Given the description of an element on the screen output the (x, y) to click on. 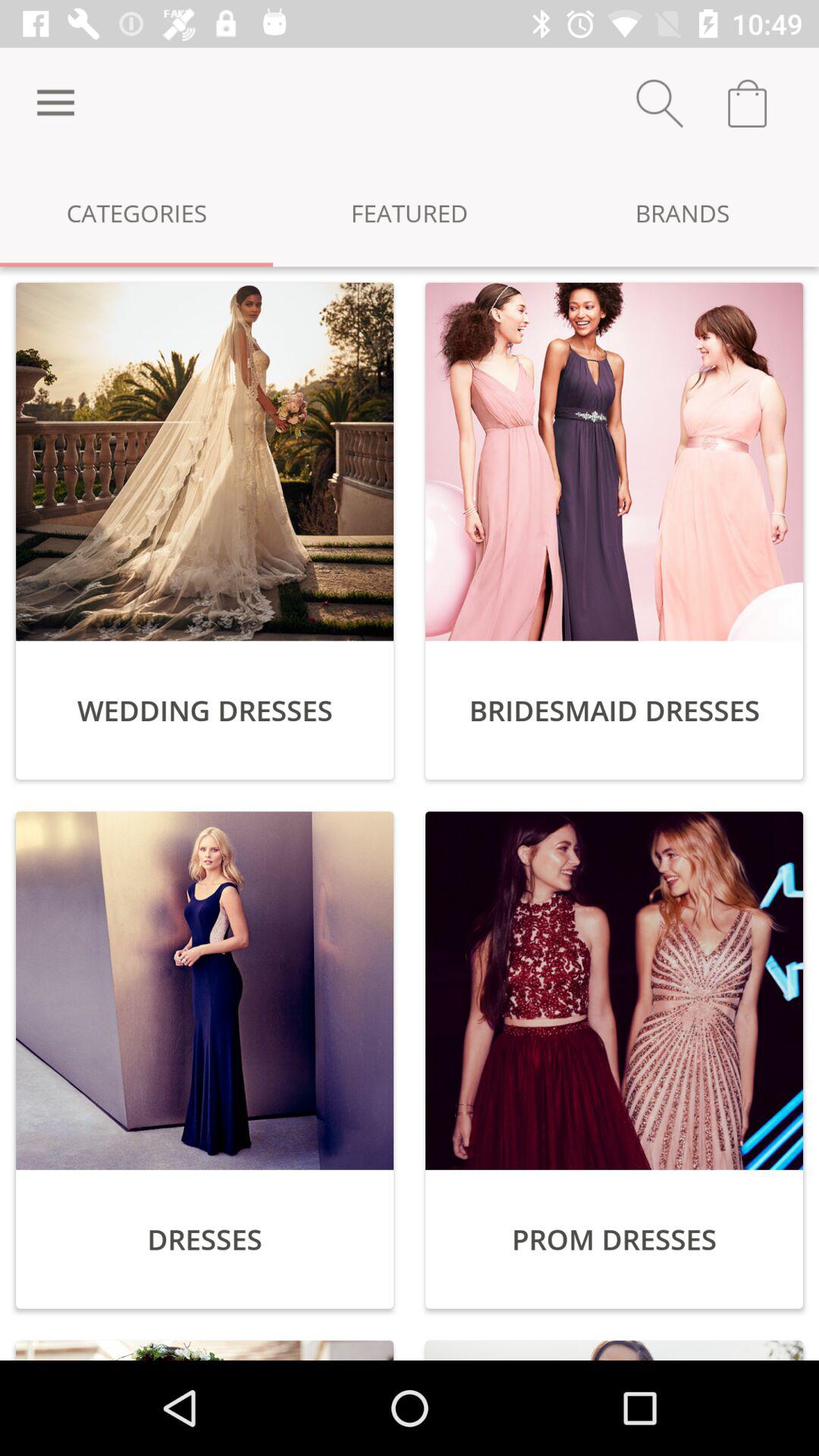
turn off icon above the brands icon (659, 103)
